Given the description of an element on the screen output the (x, y) to click on. 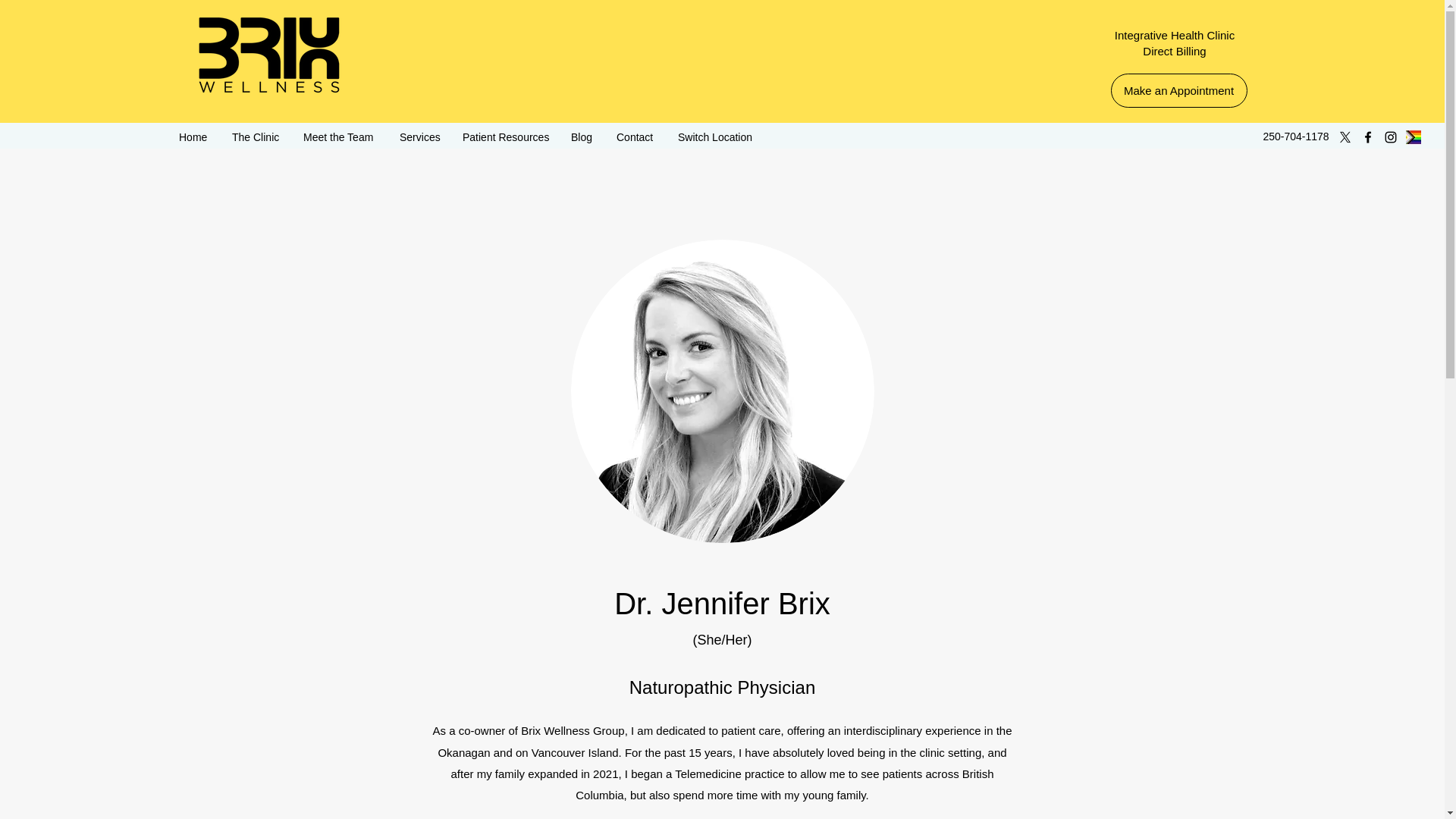
The Clinic (256, 137)
Make an Appointment (1177, 90)
Meet the Team (340, 137)
patients (902, 773)
Switch Location (715, 137)
Contact (635, 137)
Home (194, 137)
Blog (582, 137)
